Given the description of an element on the screen output the (x, y) to click on. 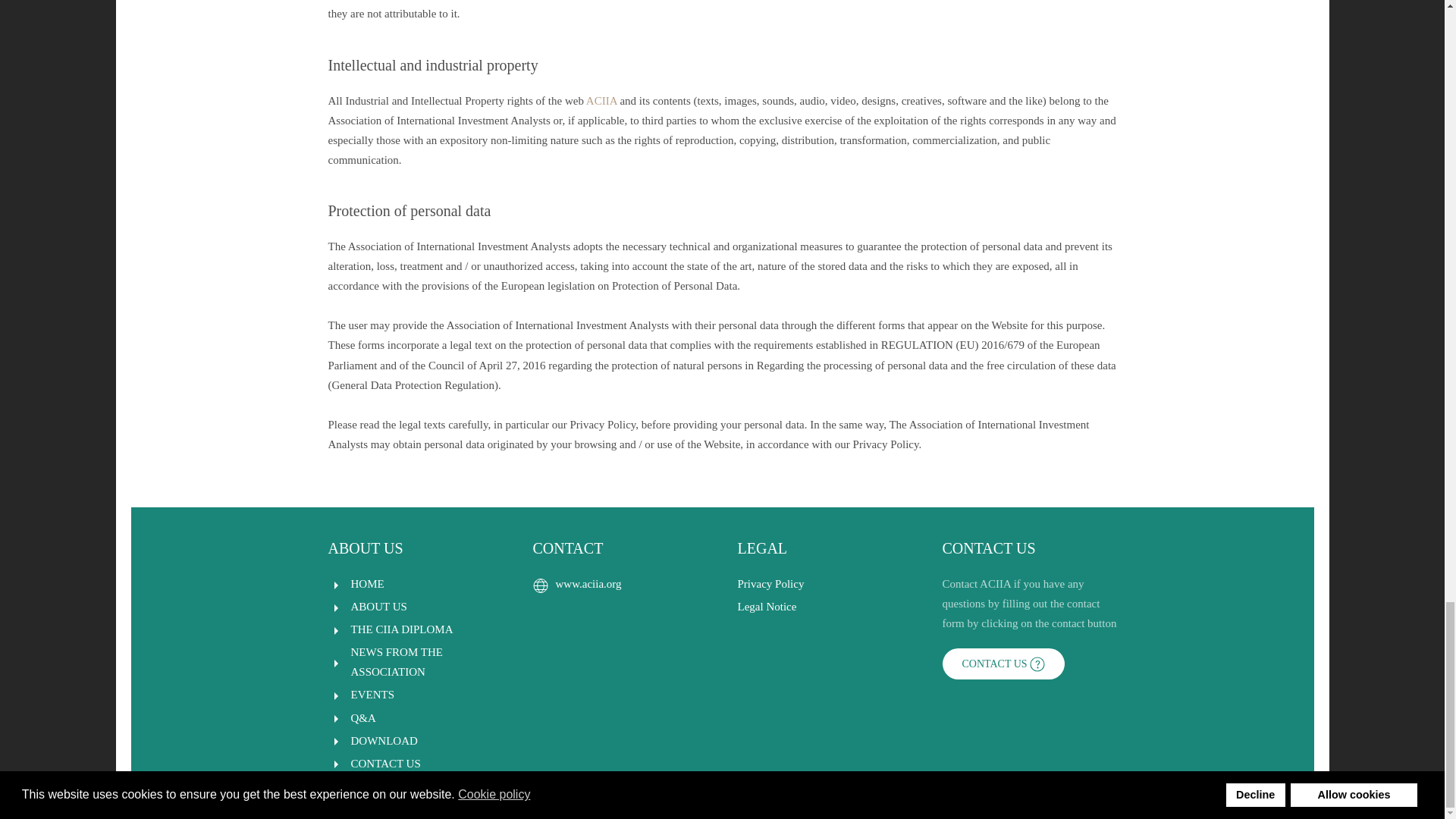
Contact us (1003, 663)
